Given the description of an element on the screen output the (x, y) to click on. 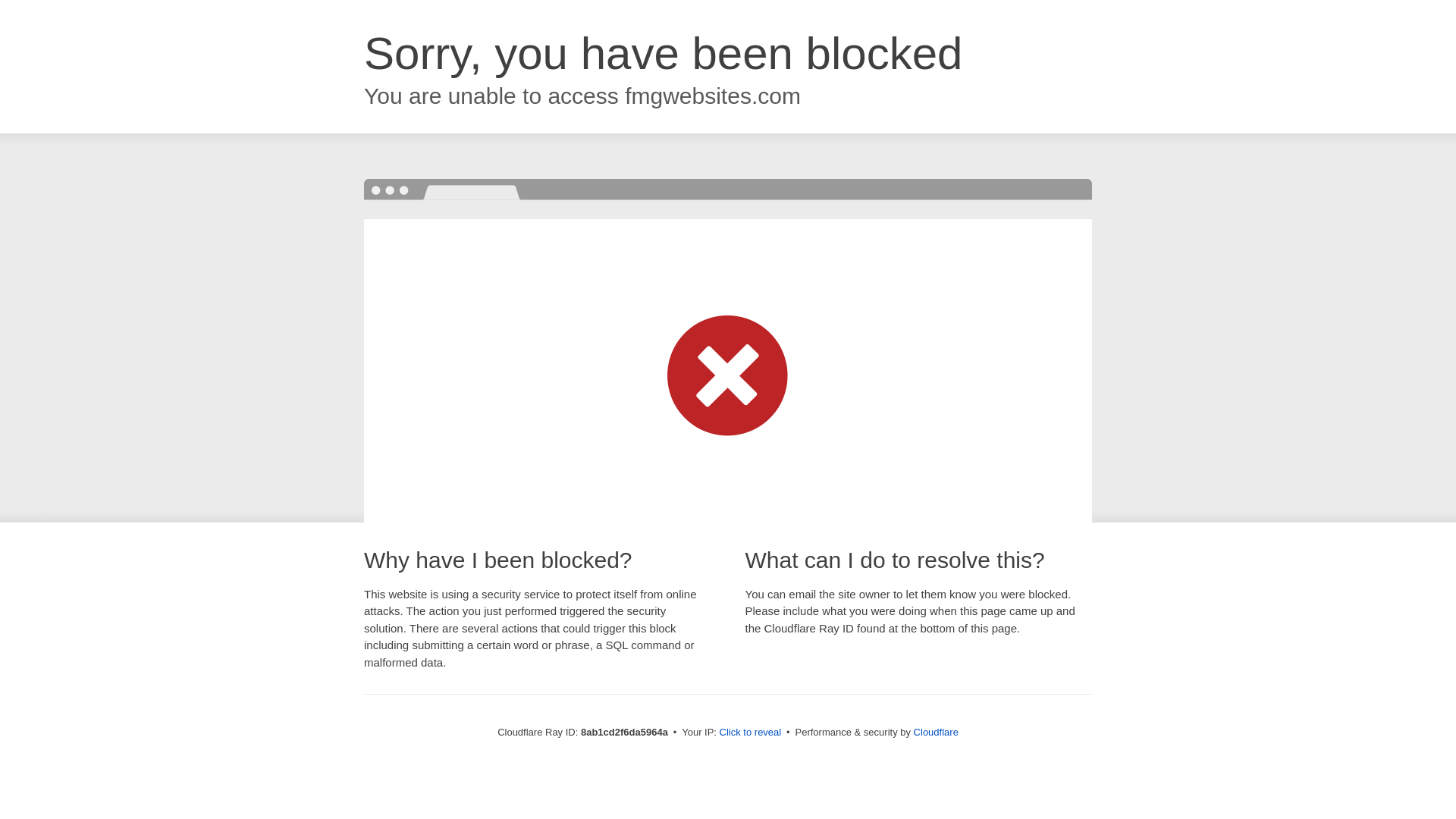
Cloudflare (936, 731)
Click to reveal (750, 732)
